Given the description of an element on the screen output the (x, y) to click on. 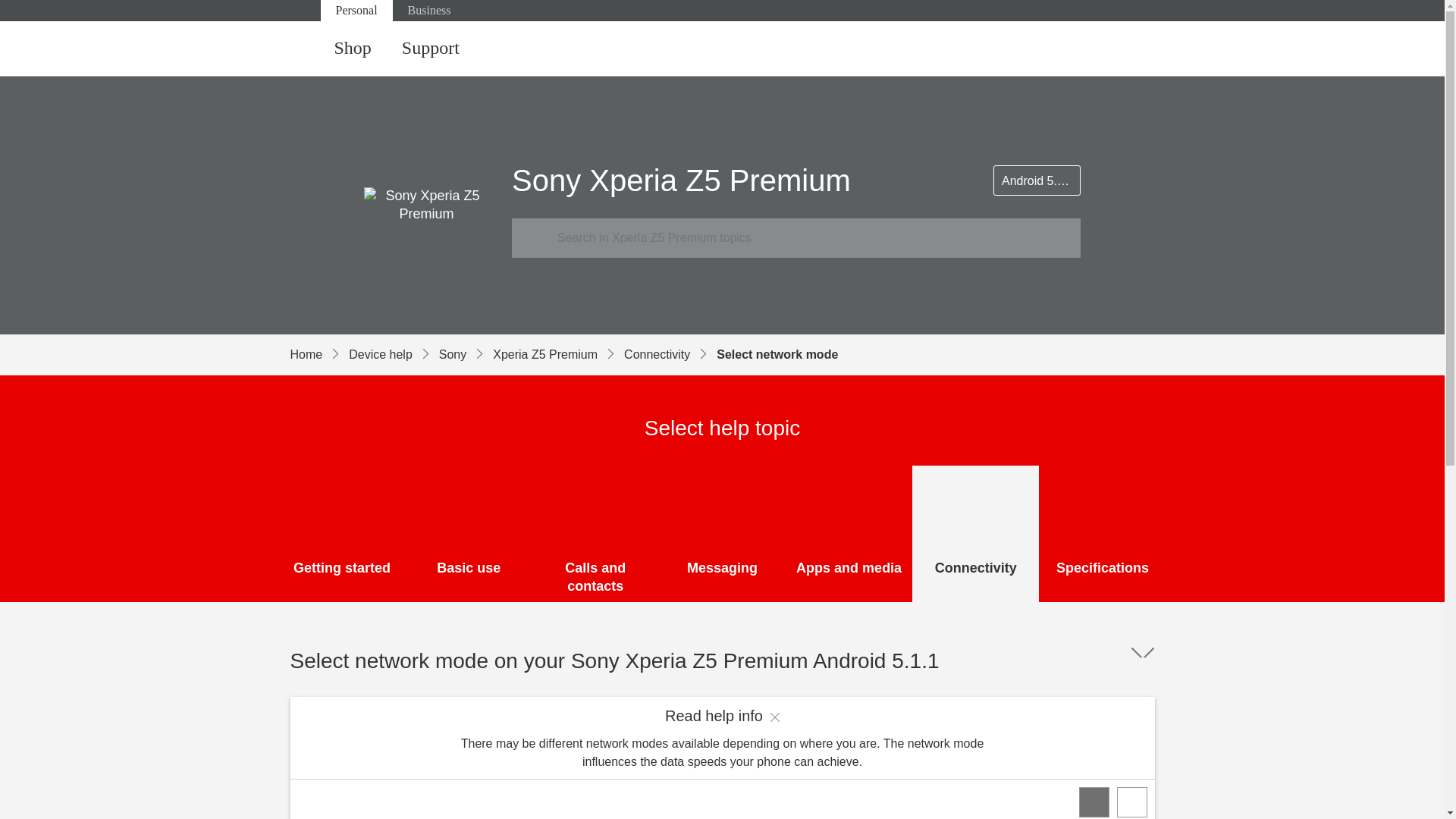
Connectivity (670, 354)
Business (429, 10)
Menu (1139, 48)
Personal (355, 10)
Shop (351, 48)
Xperia Z5 Premium (558, 354)
Home (319, 354)
My Vodafone (1079, 48)
Select network mode (777, 354)
Support (430, 48)
